Given the description of an element on the screen output the (x, y) to click on. 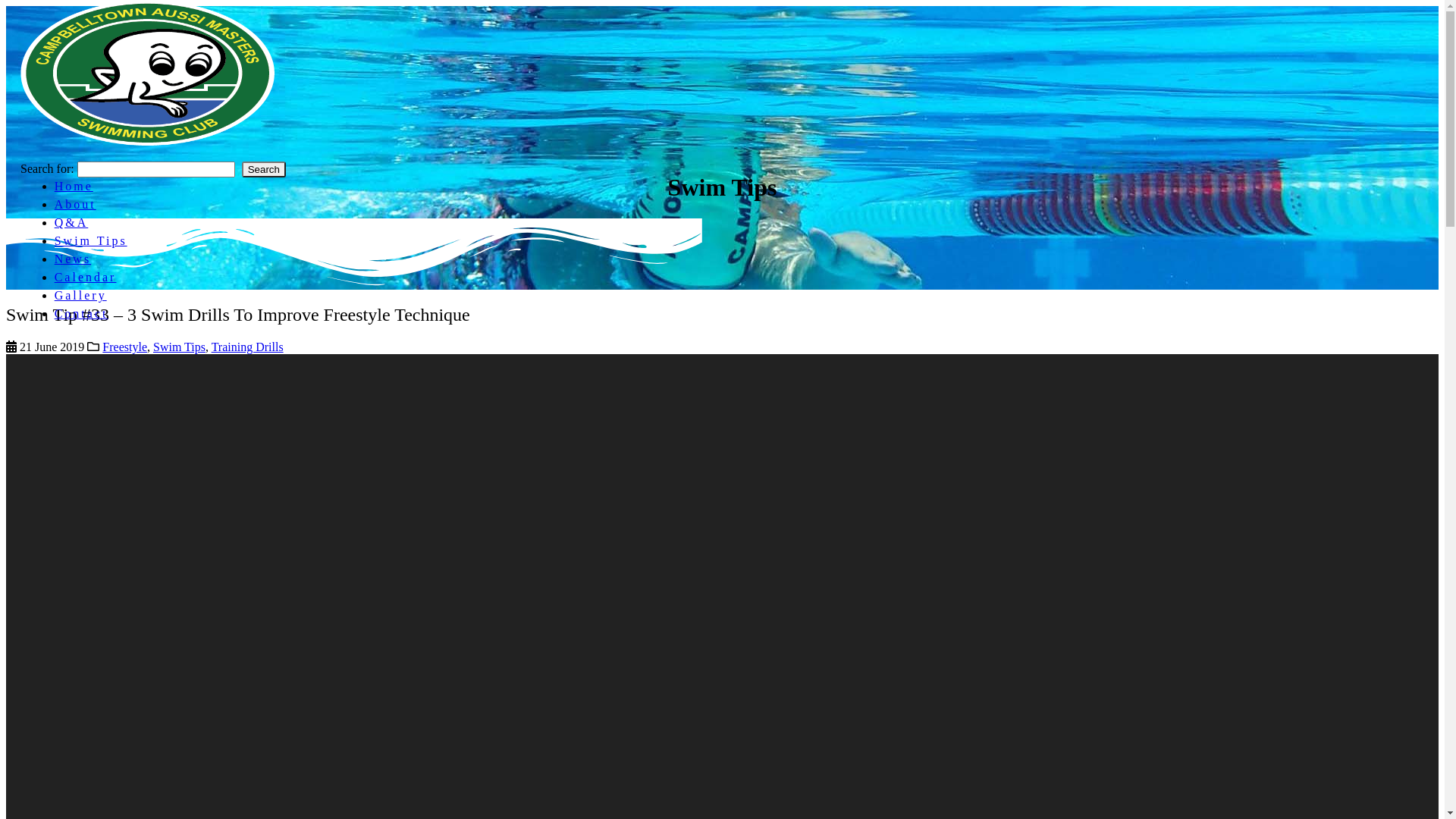
About Element type: text (75, 203)
Training Drills Element type: text (247, 346)
Search Element type: text (263, 169)
Freestyle Element type: text (124, 346)
Swim Tips Element type: text (179, 346)
Gallery Element type: text (80, 294)
Home Element type: text (73, 185)
Swim Tips Element type: text (90, 240)
Contact Element type: text (81, 313)
Calendar Element type: text (85, 276)
News Element type: text (72, 258)
Q&A Element type: text (71, 222)
